Given the description of an element on the screen output the (x, y) to click on. 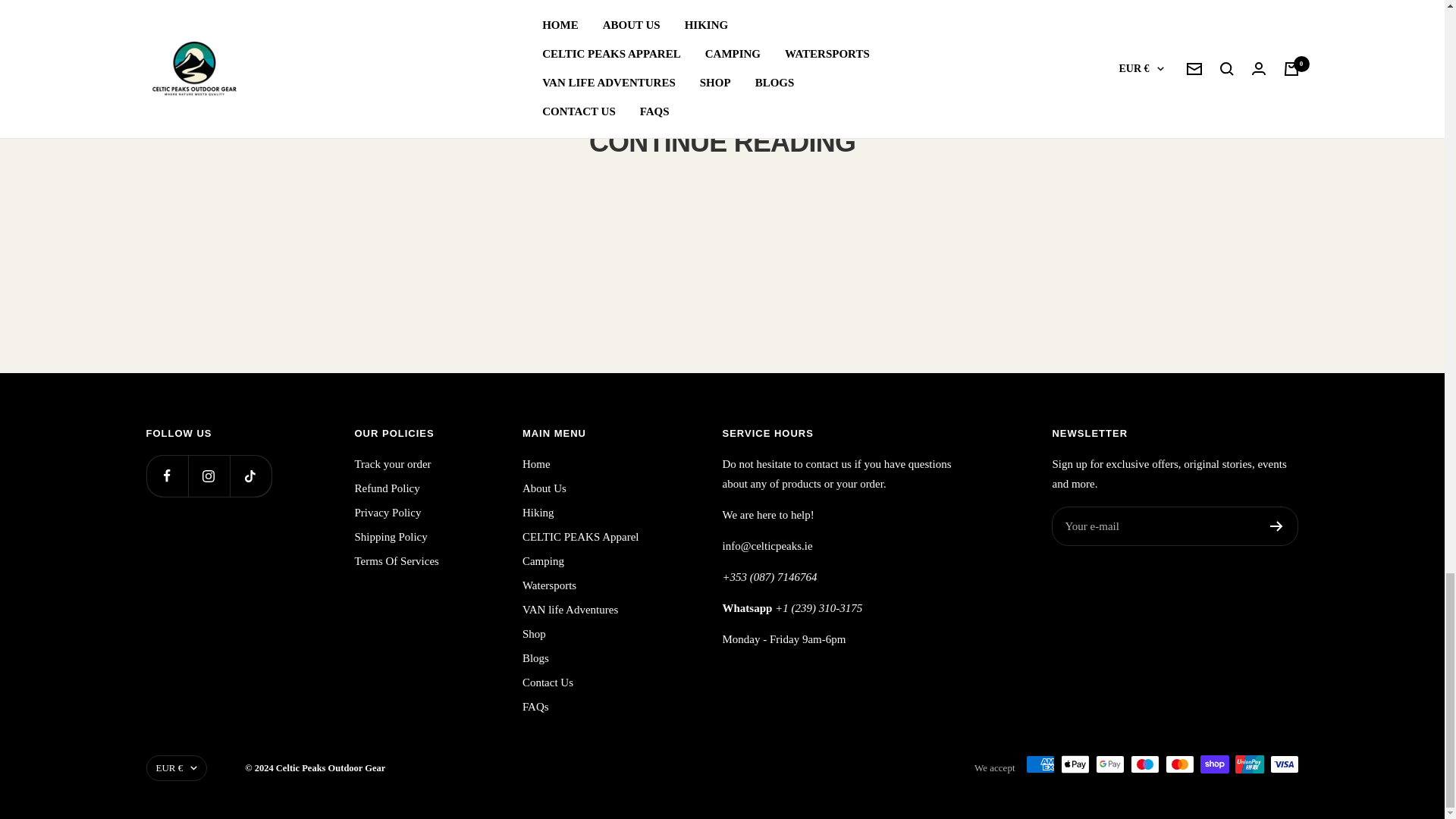
Apple Pay (1074, 764)
Register (1275, 525)
Google Pay (1109, 764)
Maestro (1143, 764)
American Express (1039, 764)
Mastercard (1178, 764)
